Given the description of an element on the screen output the (x, y) to click on. 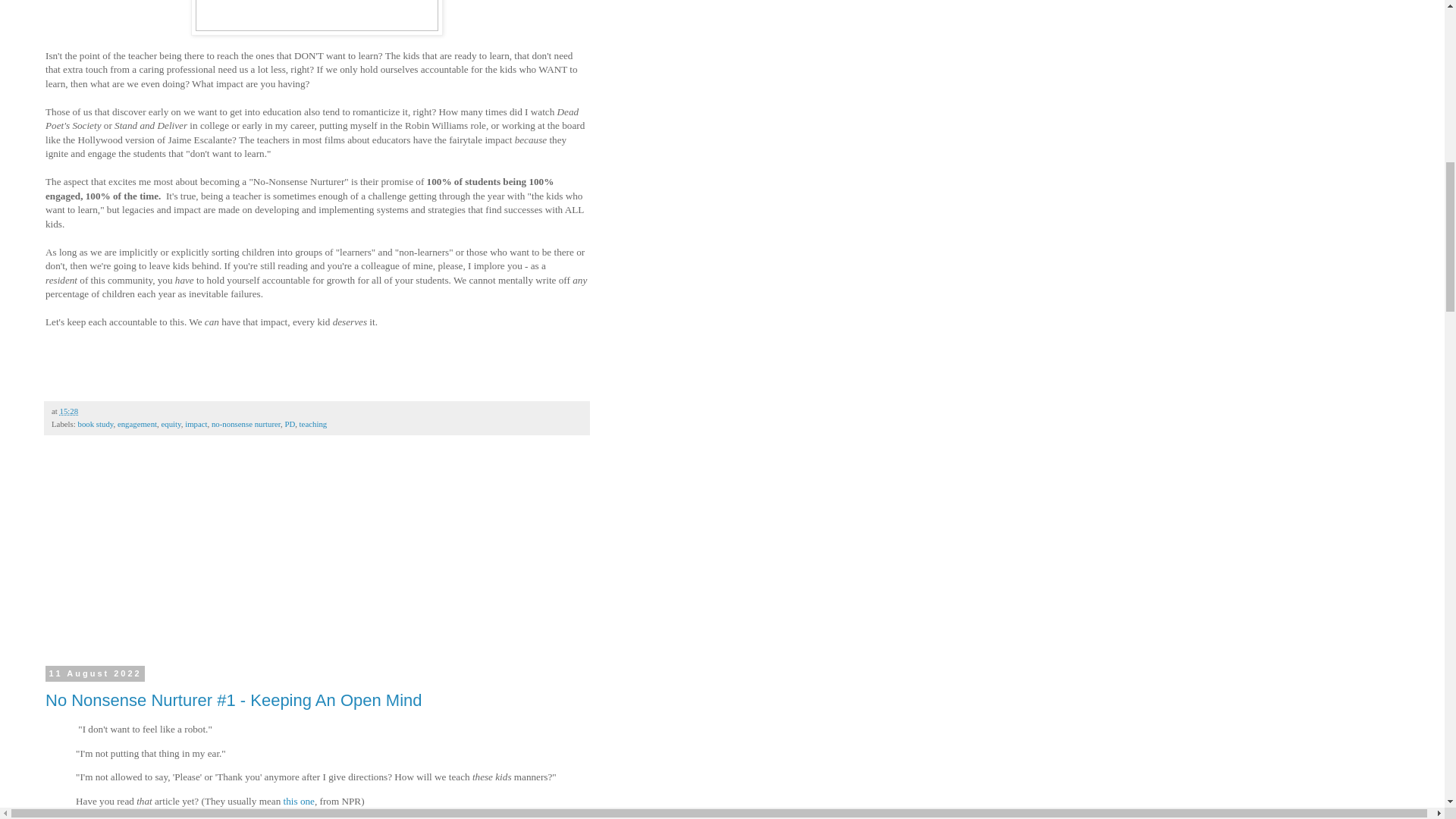
PD (289, 423)
impact (195, 423)
book study (95, 423)
no-nonsense nurturer (246, 423)
Advertisement (159, 564)
teaching (313, 423)
permanent link (68, 410)
this one (298, 800)
15:28 (68, 410)
equity (170, 423)
engagement (137, 423)
